Given the description of an element on the screen output the (x, y) to click on. 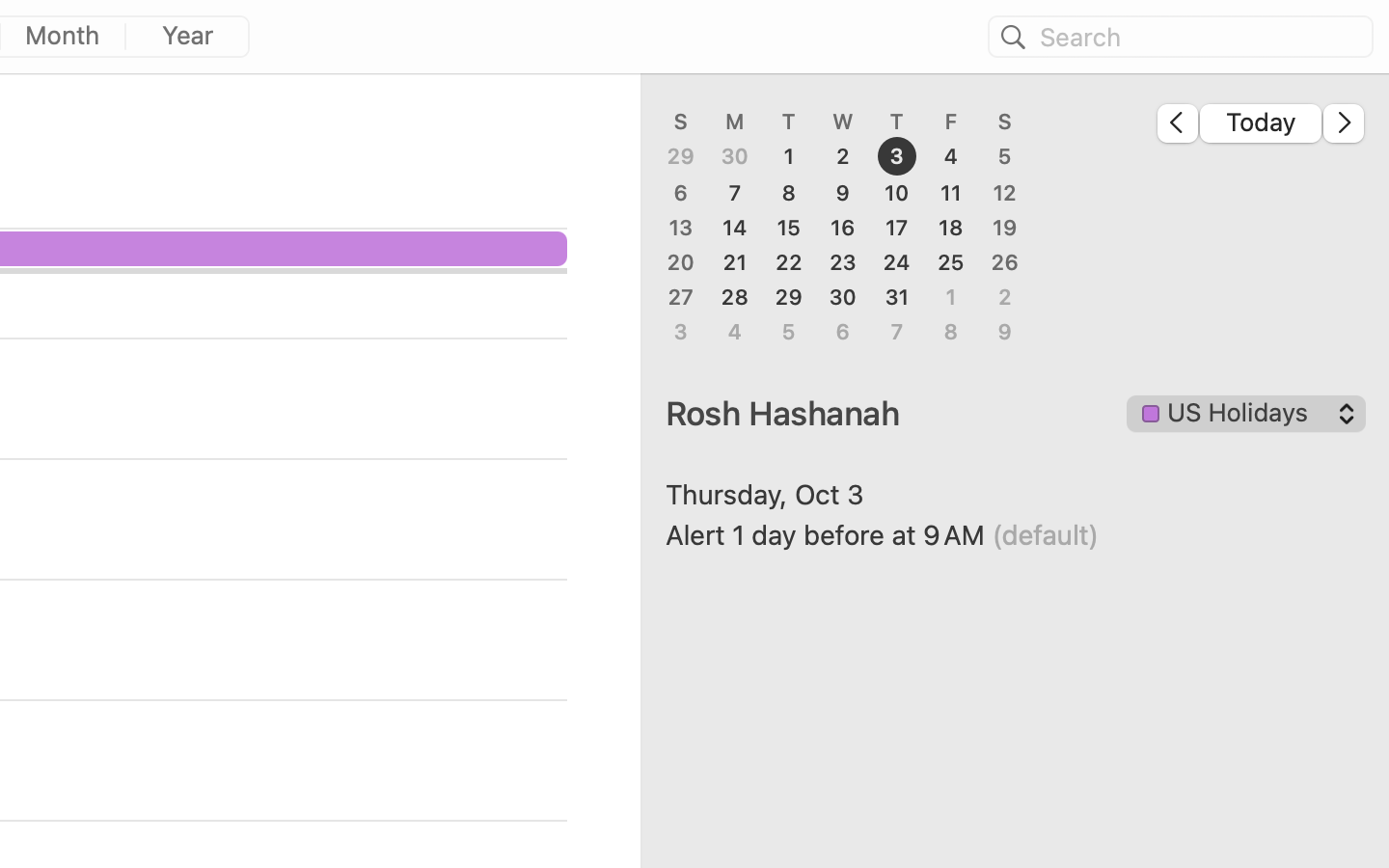
15 Element type: AXStaticText (789, 227)
30 Element type: AXStaticText (735, 156)
3 Element type: AXStaticText (897, 156)
11 Element type: AXStaticText (951, 192)
13 Element type: AXStaticText (680, 227)
